Given the description of an element on the screen output the (x, y) to click on. 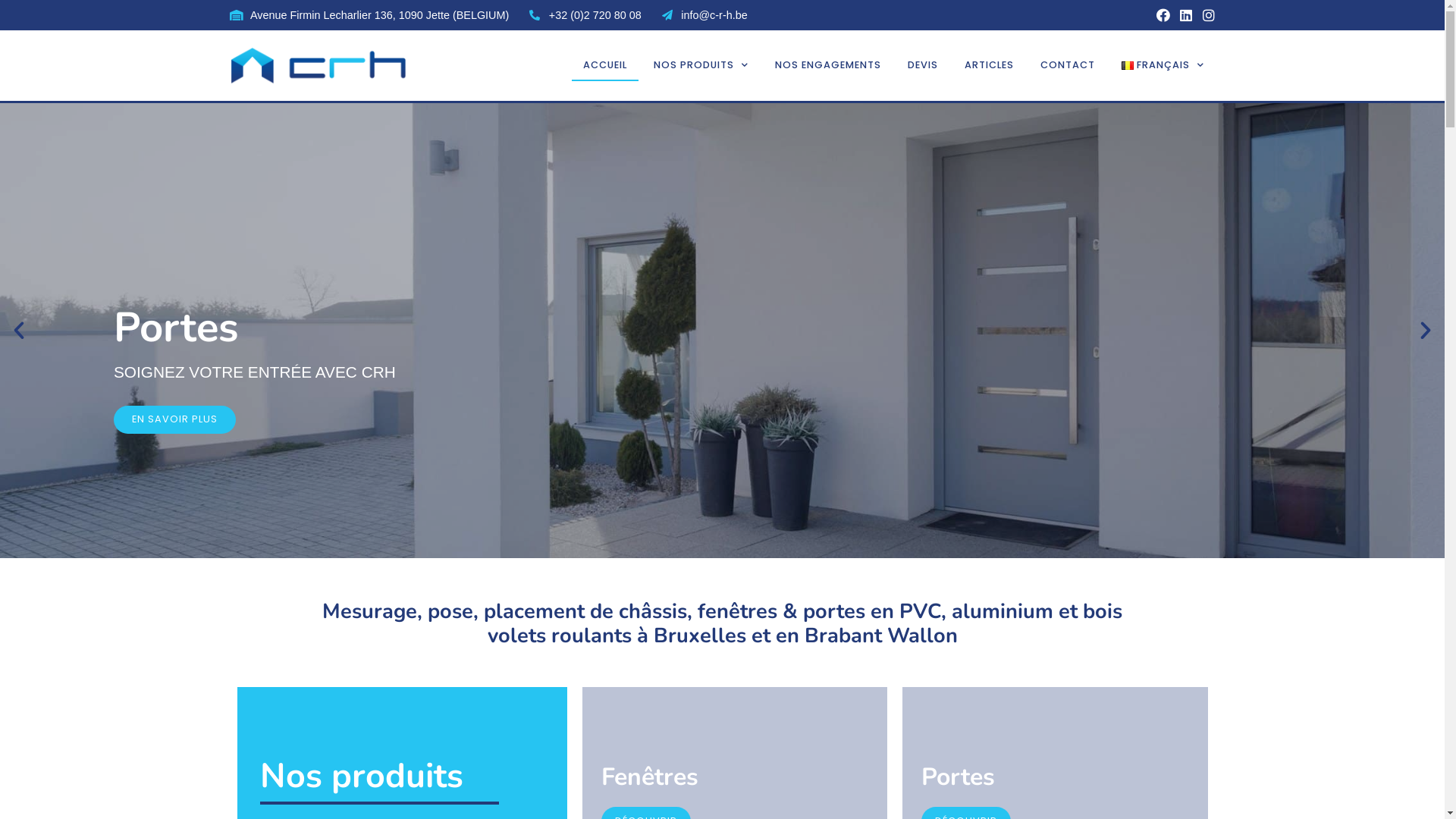
NOS ENGAGEMENTS Element type: text (827, 65)
CONTACT Element type: text (1067, 65)
NOS PRODUITS Element type: text (700, 65)
+32 (0)2 720 80 08 Element type: text (584, 14)
Avenue Firmin Lecharlier 136, 1090 Jette (BELGIUM) Element type: text (368, 14)
ARTICLES Element type: text (989, 65)
info@c-r-h.be Element type: text (703, 14)
DEVIS Element type: text (922, 65)
ACCUEIL Element type: text (604, 65)
